Given the description of an element on the screen output the (x, y) to click on. 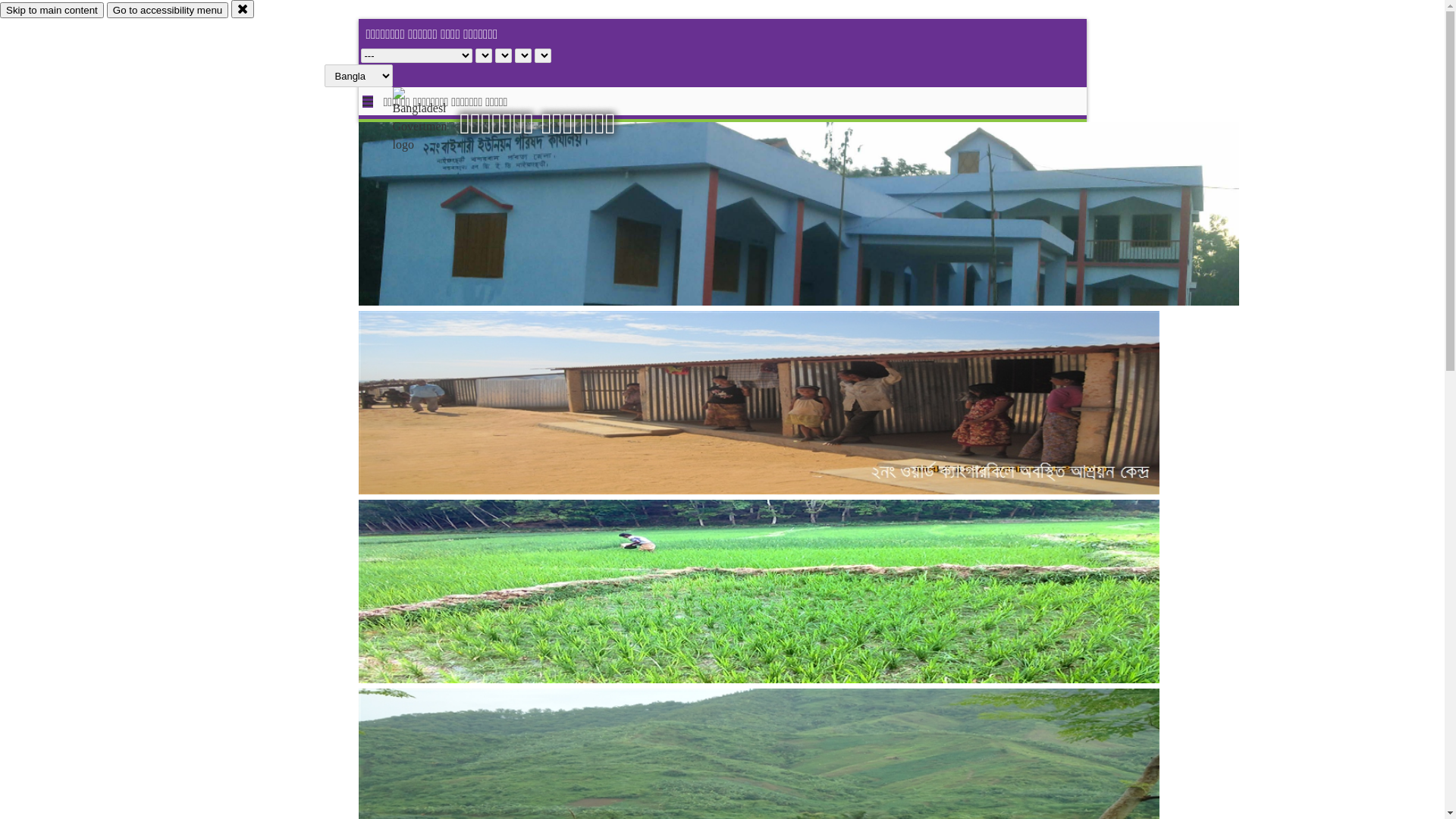
Skip to main content Element type: text (51, 10)

                
             Element type: hover (431, 120)
close Element type: hover (242, 9)
Go to accessibility menu Element type: text (167, 10)
